Given the description of an element on the screen output the (x, y) to click on. 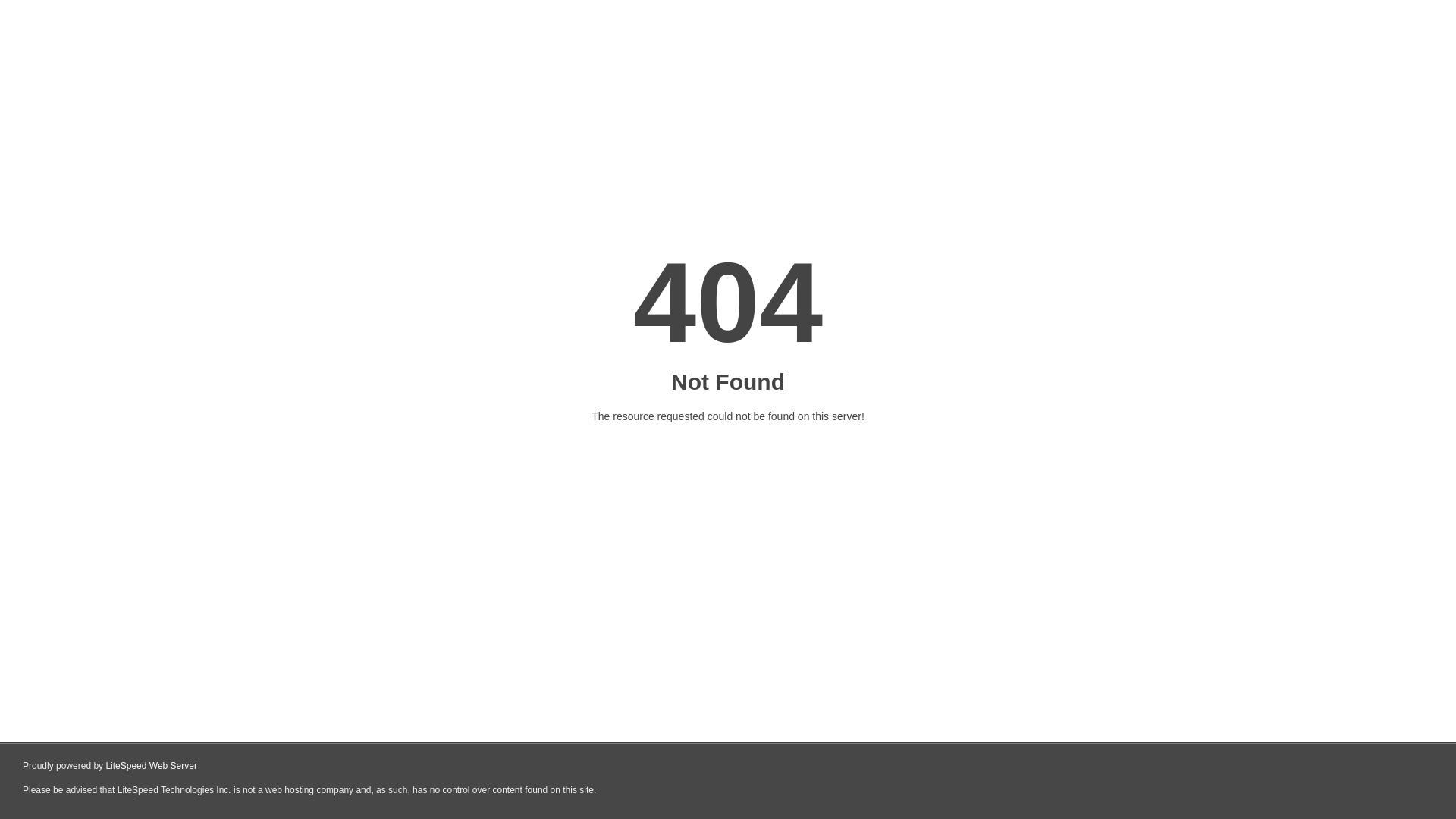
LiteSpeed Web Server Element type: text (151, 765)
